Given the description of an element on the screen output the (x, y) to click on. 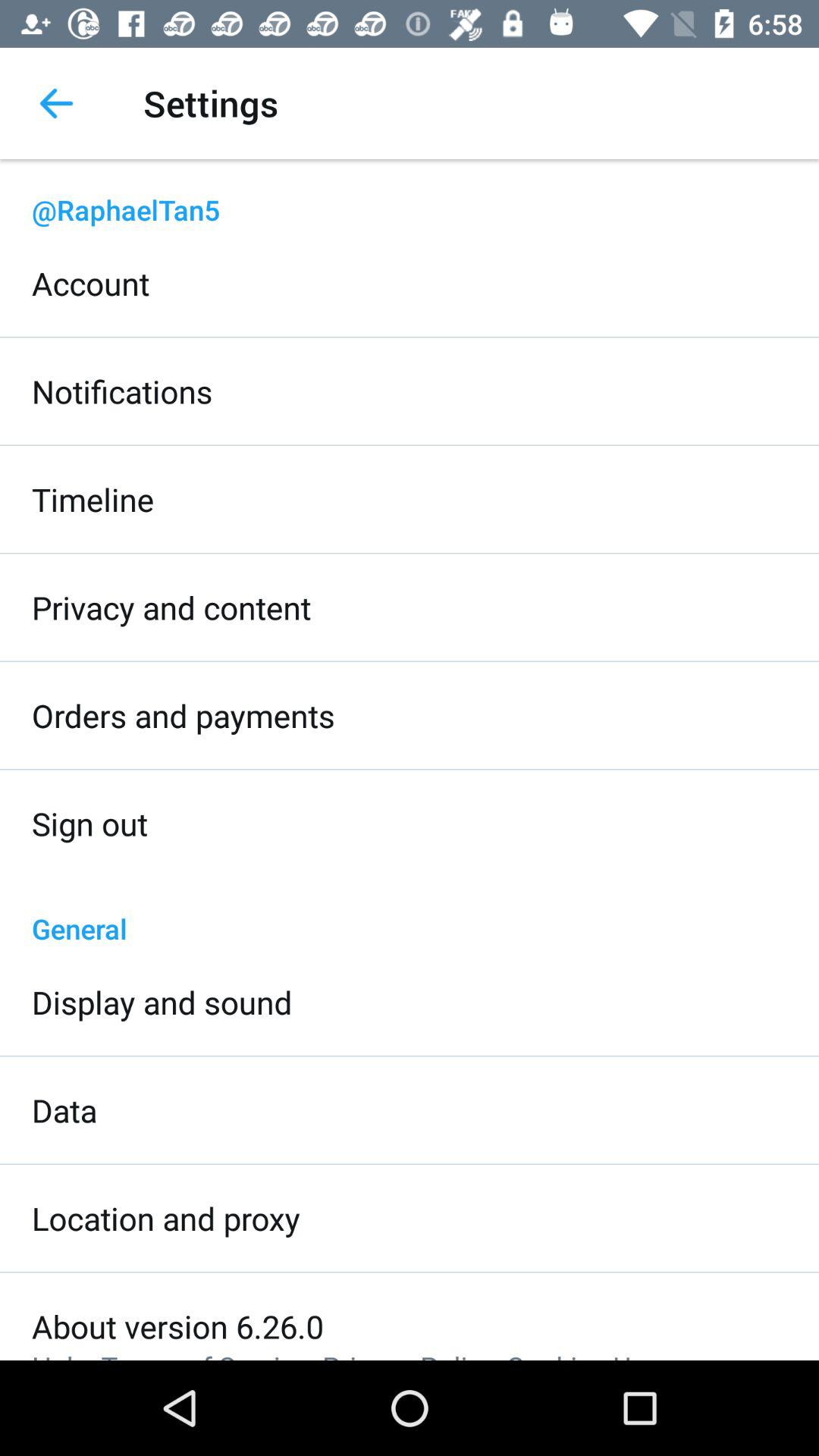
open the help terms of (345, 1353)
